Given the description of an element on the screen output the (x, y) to click on. 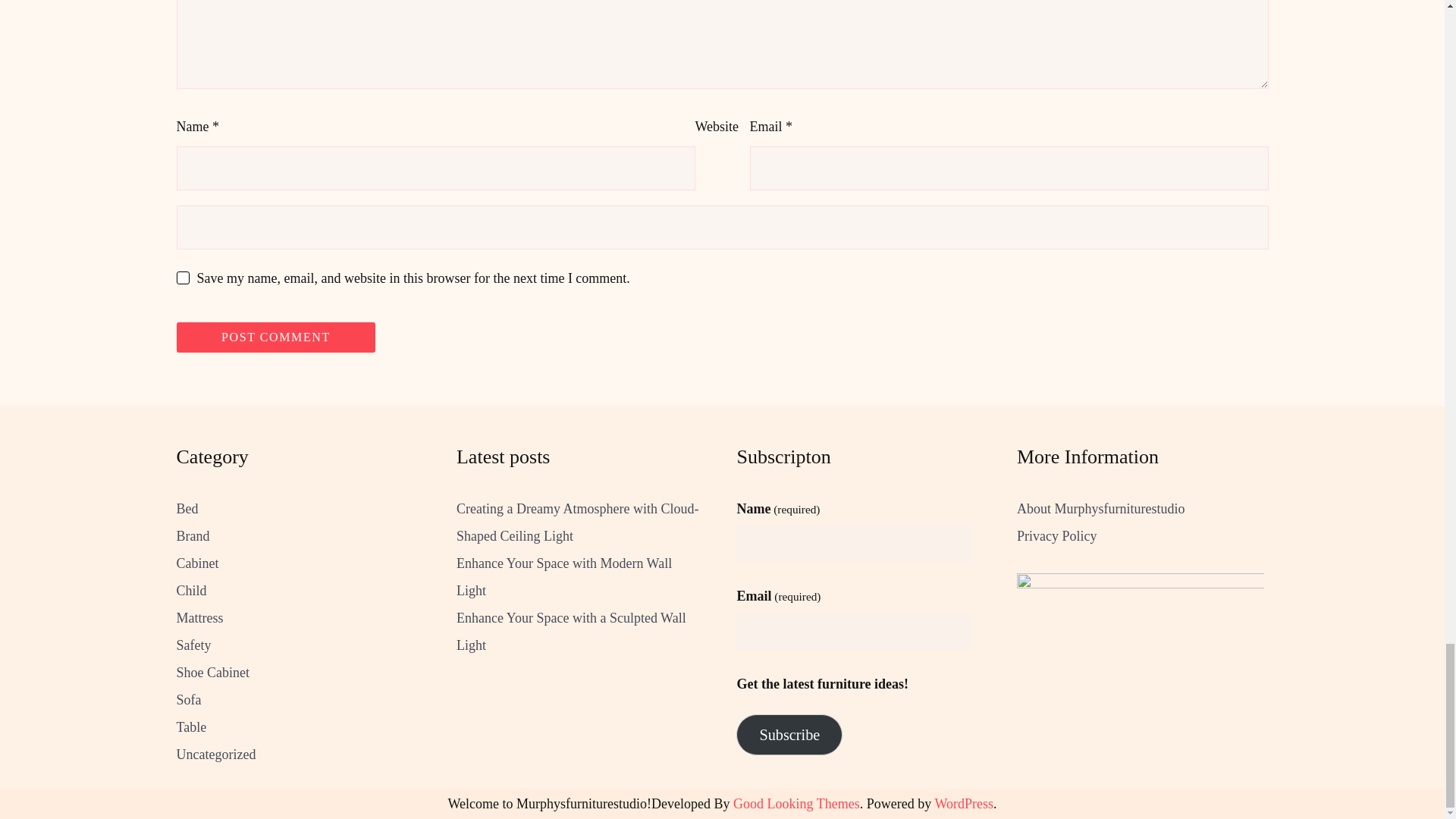
yes (182, 277)
Post Comment (275, 337)
